Given the description of an element on the screen output the (x, y) to click on. 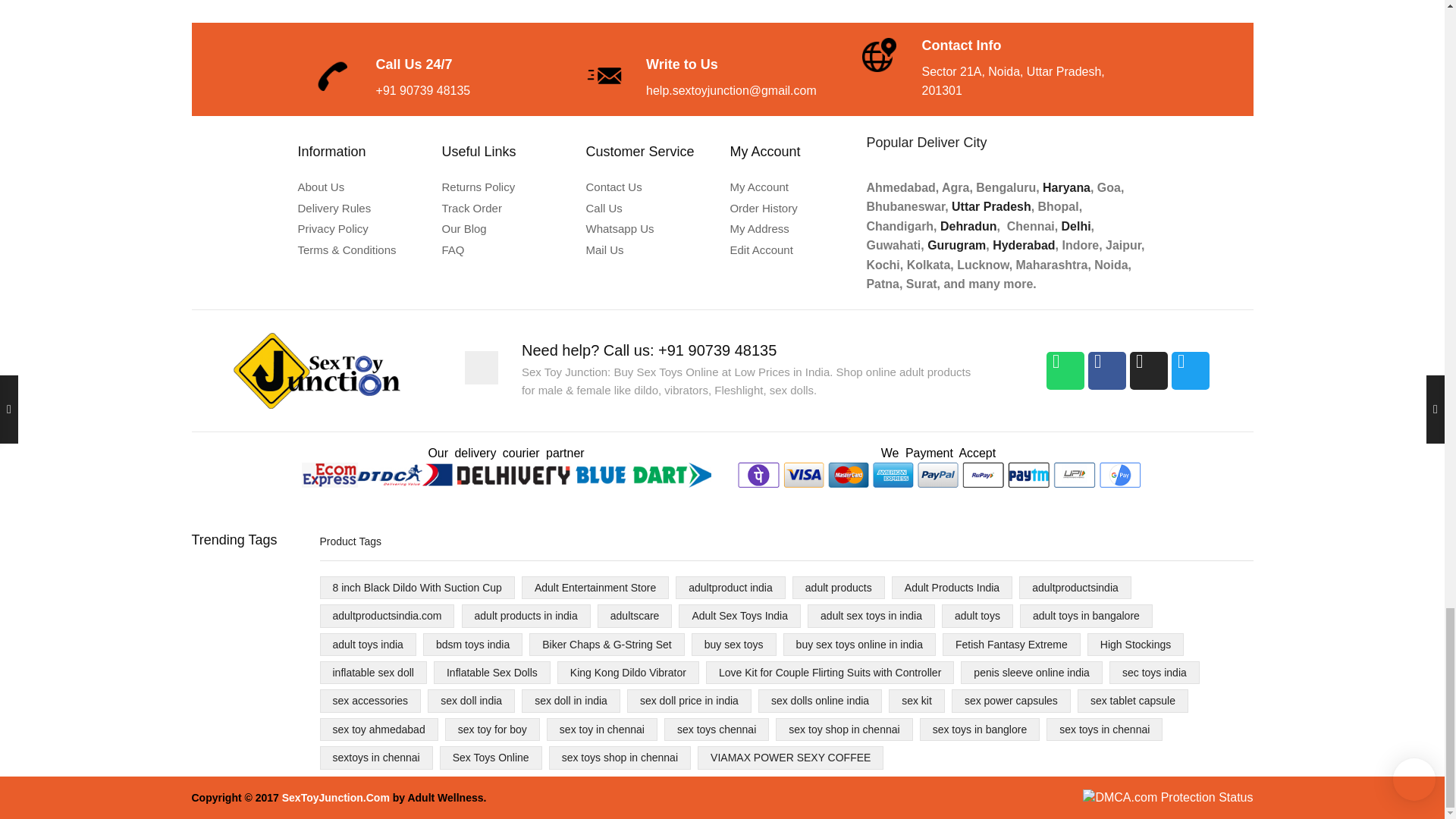
About Us (361, 186)
Our Blog (505, 228)
Delivery Rules (361, 208)
Returns Policy (505, 186)
Track Order (505, 208)
icons8-location-60 (877, 56)
icons8-call-60 (331, 75)
Privacy Policy (361, 228)
icons8-mail-128 (604, 75)
